Given the description of an element on the screen output the (x, y) to click on. 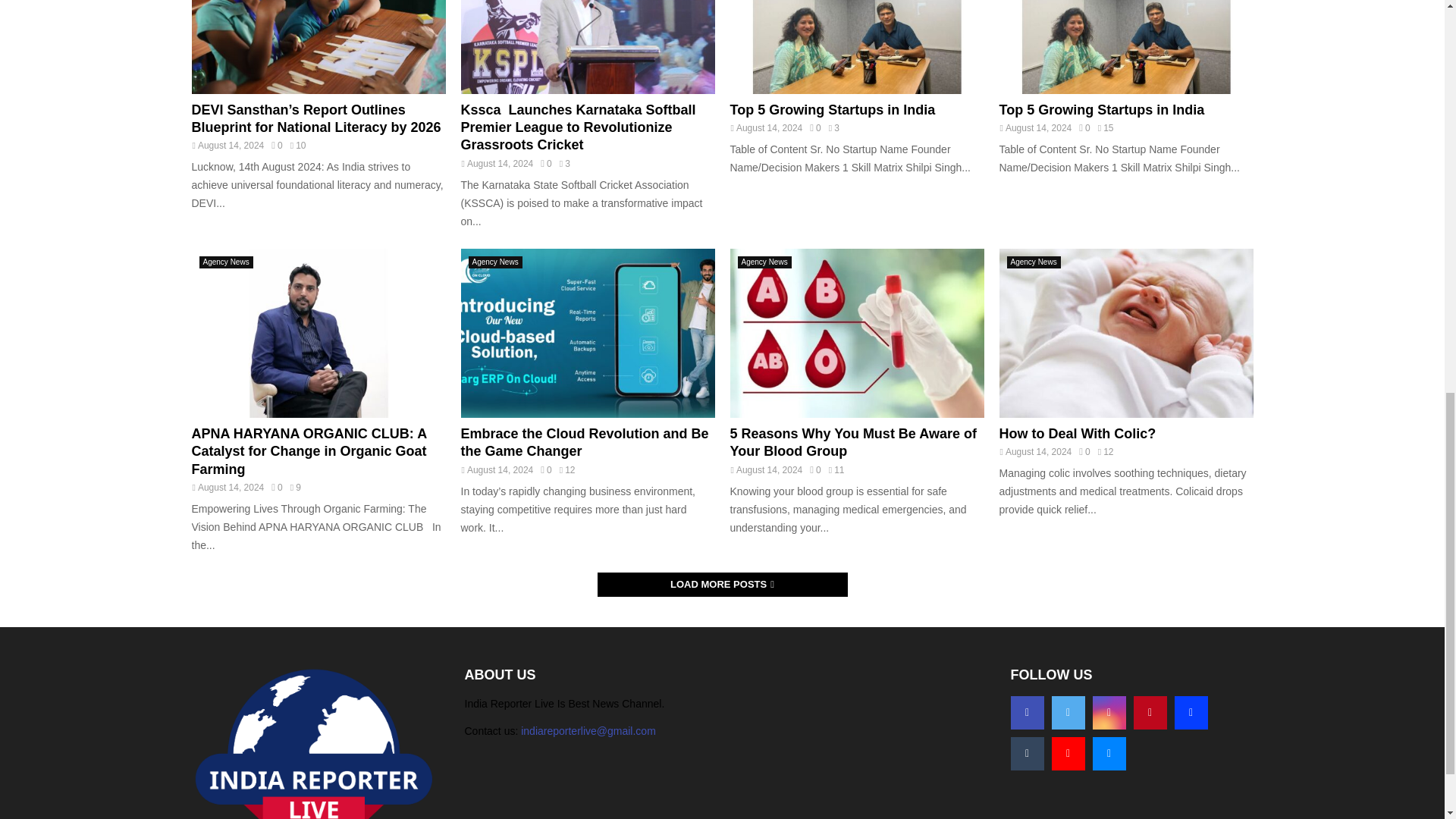
0 (276, 145)
0 (815, 127)
Top 5 Growing Startups in India (831, 109)
0 (1083, 127)
0 (545, 163)
Top 5 Growing Startups in India (1101, 109)
Top 5 Growing Startups in India (856, 46)
